Given the description of an element on the screen output the (x, y) to click on. 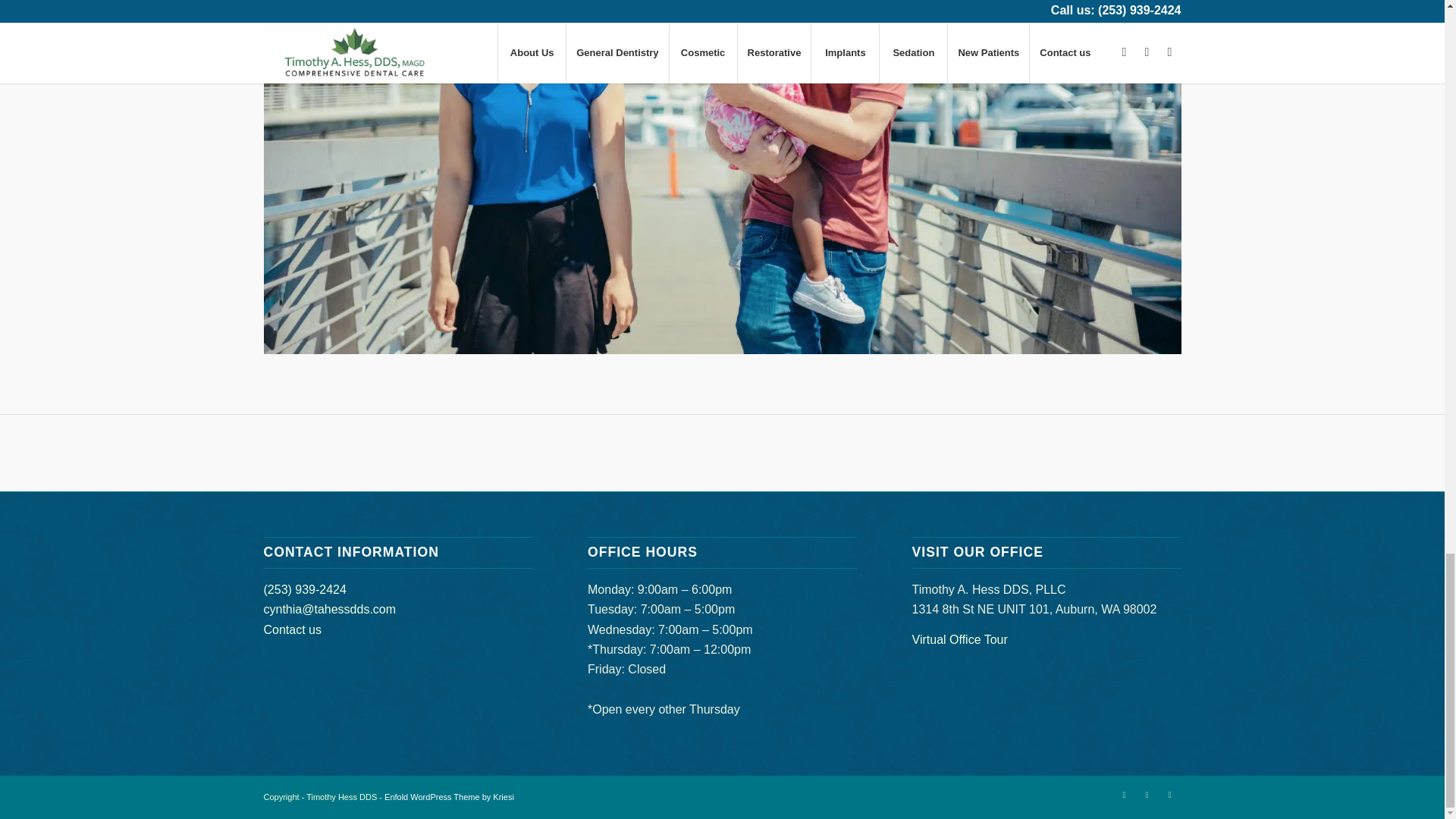
Facebook (1124, 793)
Mail (1169, 793)
LinkedIn (1146, 793)
